Given the description of an element on the screen output the (x, y) to click on. 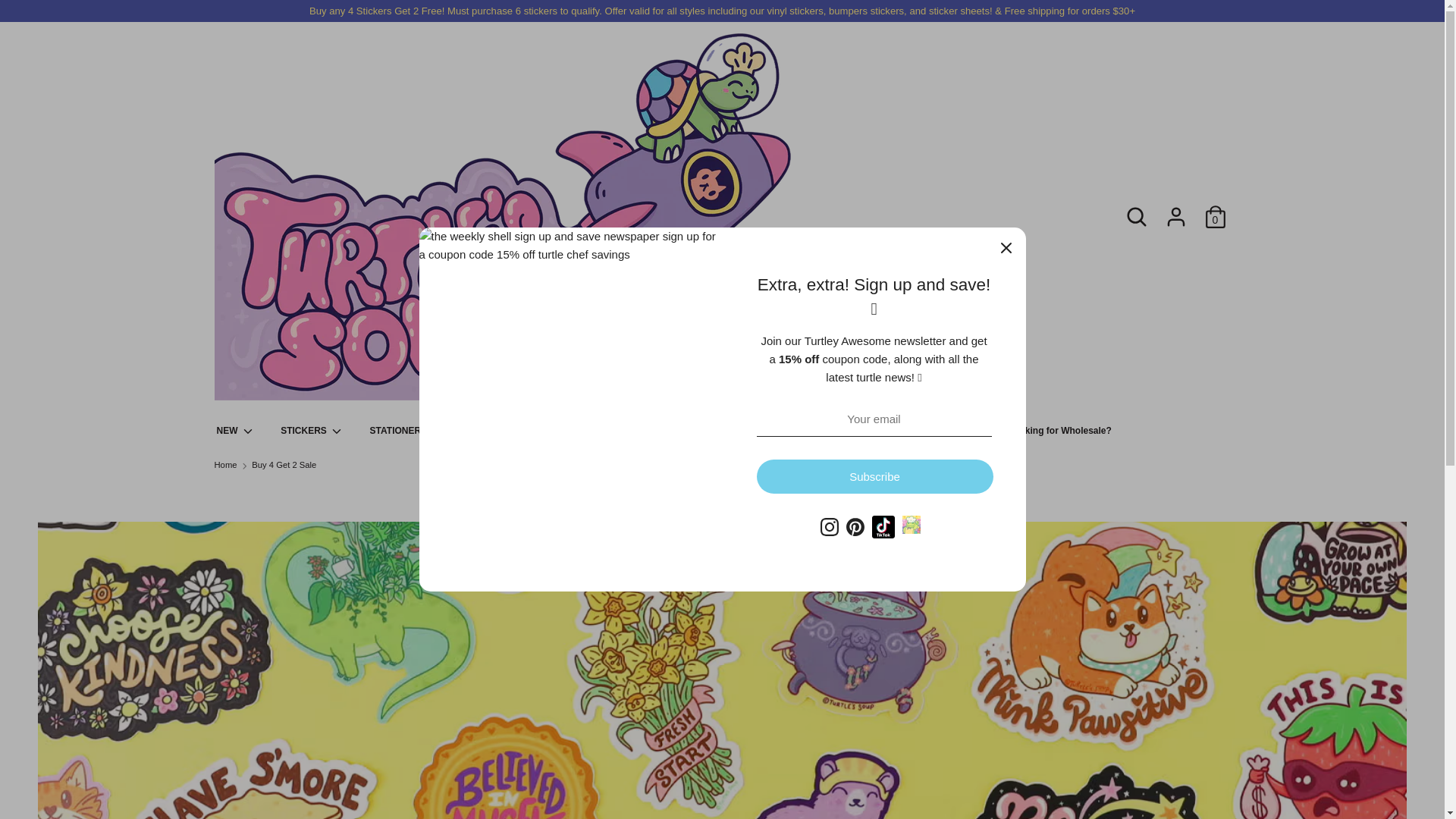
Search (1136, 210)
0 (1214, 210)
